Given the description of an element on the screen output the (x, y) to click on. 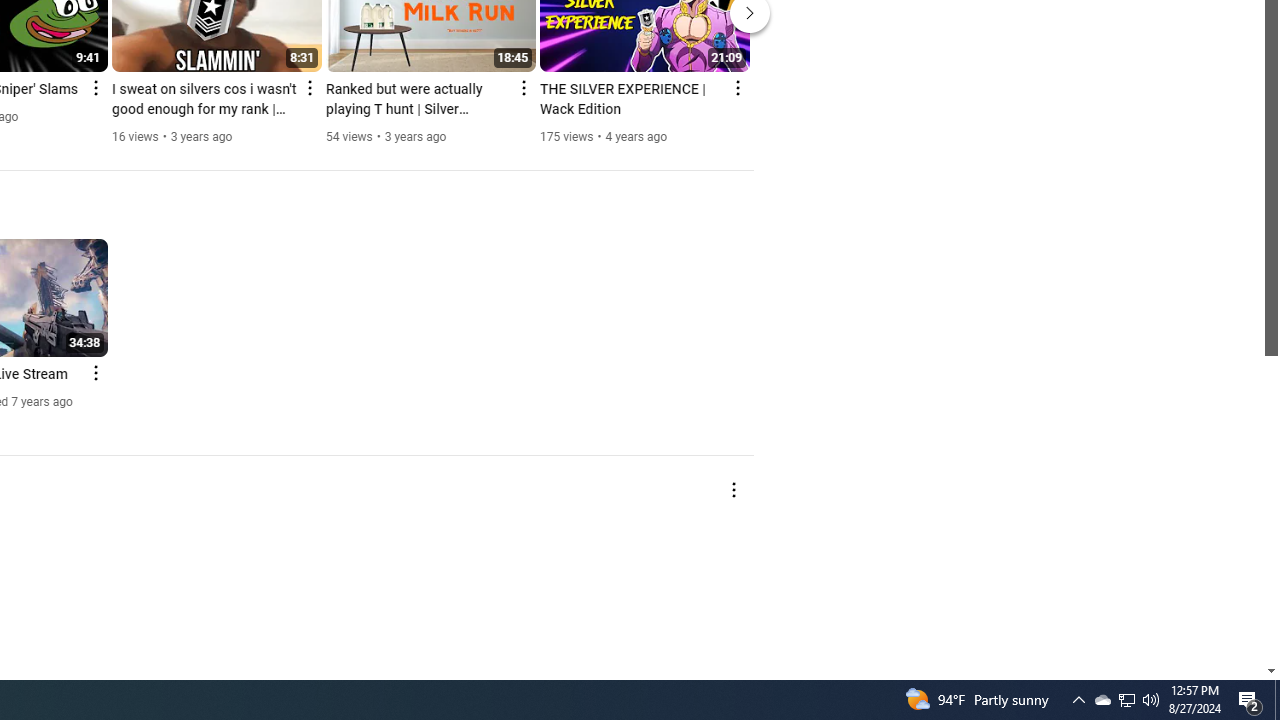
Action menu (95, 372)
More actions (732, 489)
